Given the description of an element on the screen output the (x, y) to click on. 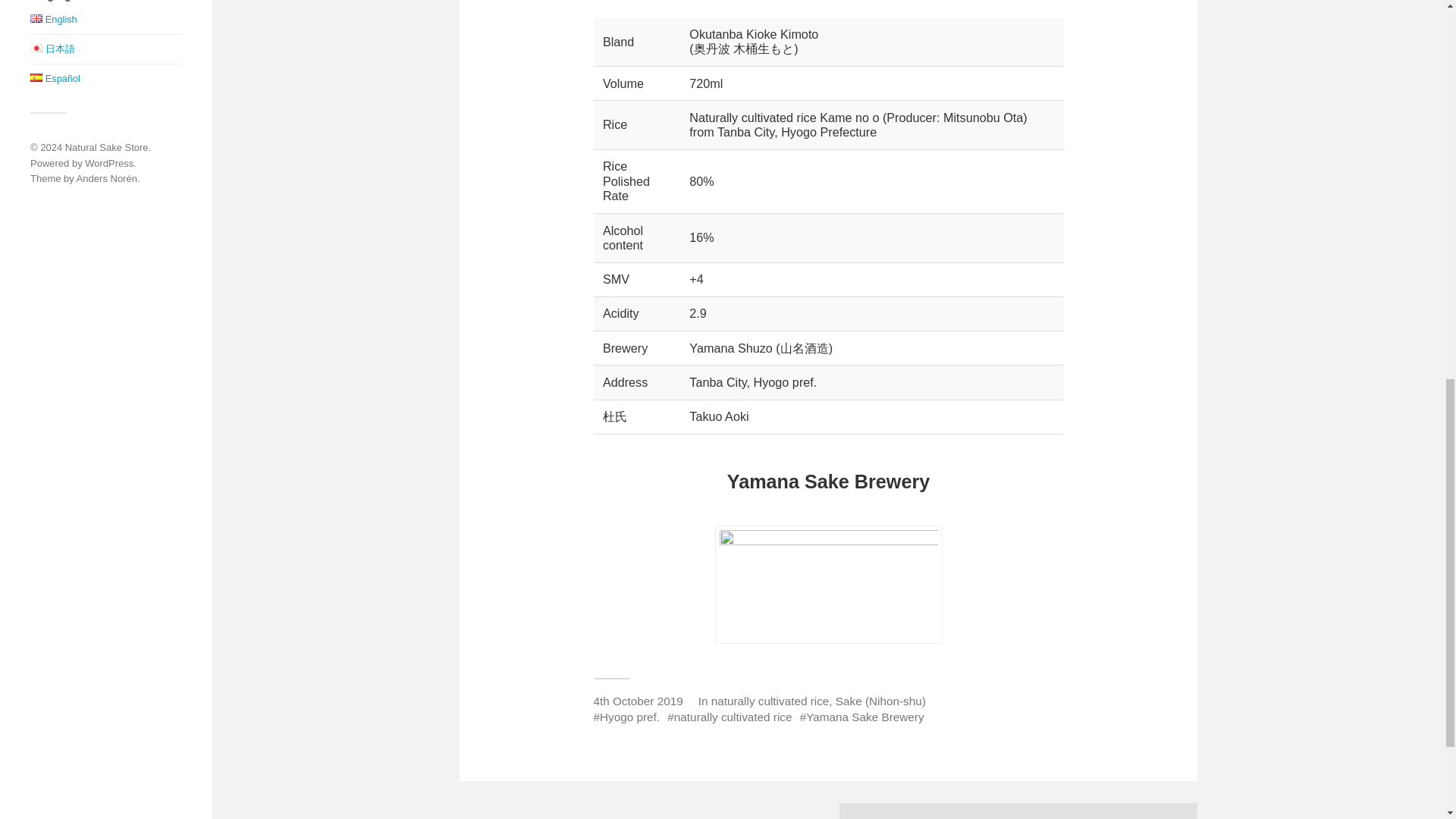
English (53, 19)
Natural Sake Store (106, 147)
English (36, 18)
